Given the description of an element on the screen output the (x, y) to click on. 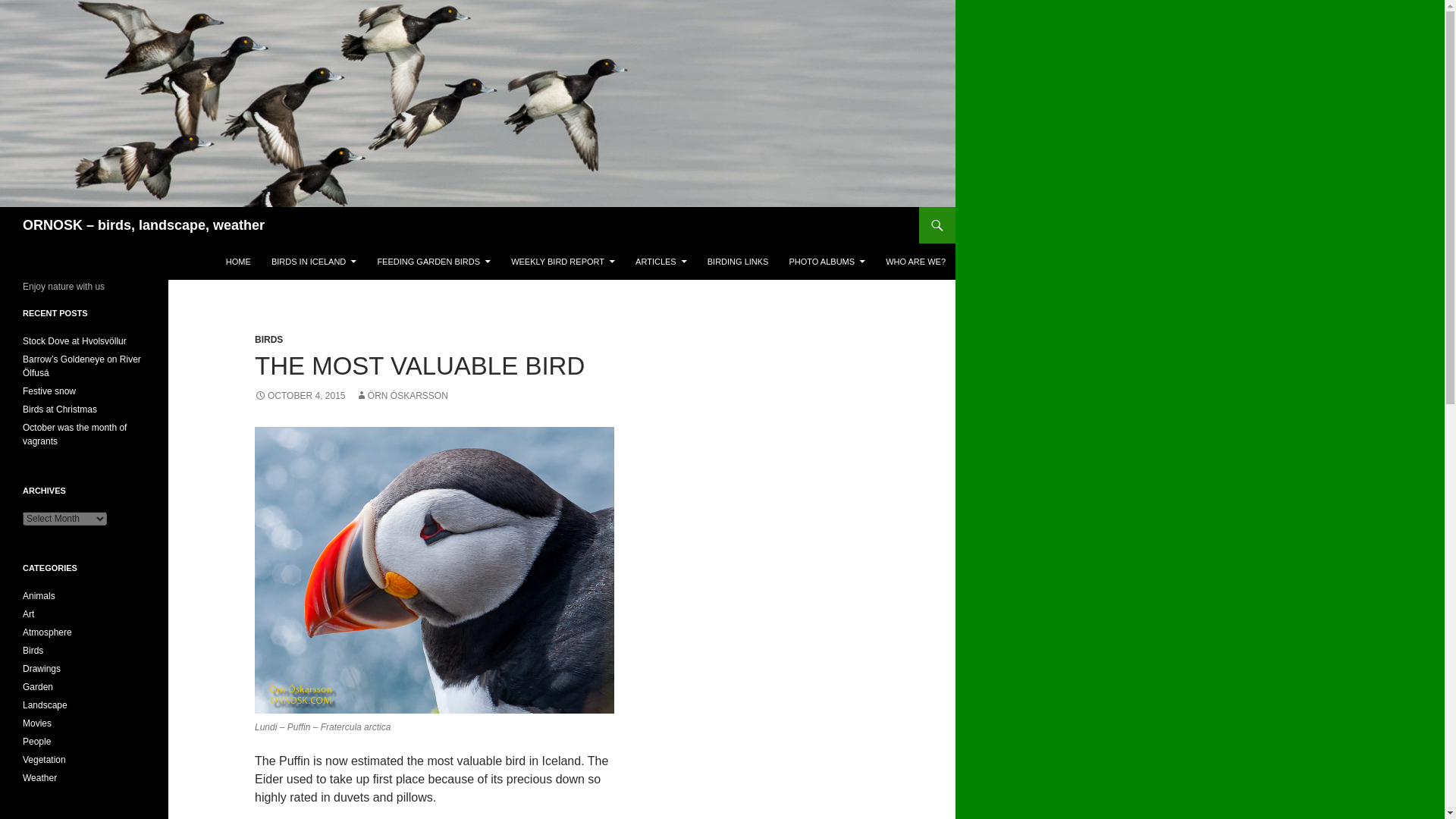
BIRDING LINKS (737, 261)
FEEDING GARDEN BIRDS (433, 261)
OCTOBER 4, 2015 (300, 395)
ARTICLES (660, 261)
WEEKLY BIRD REPORT (563, 261)
BIRDS IN ICELAND (313, 261)
BIRDS (268, 339)
PHOTO ALBUMS (826, 261)
